Given the description of an element on the screen output the (x, y) to click on. 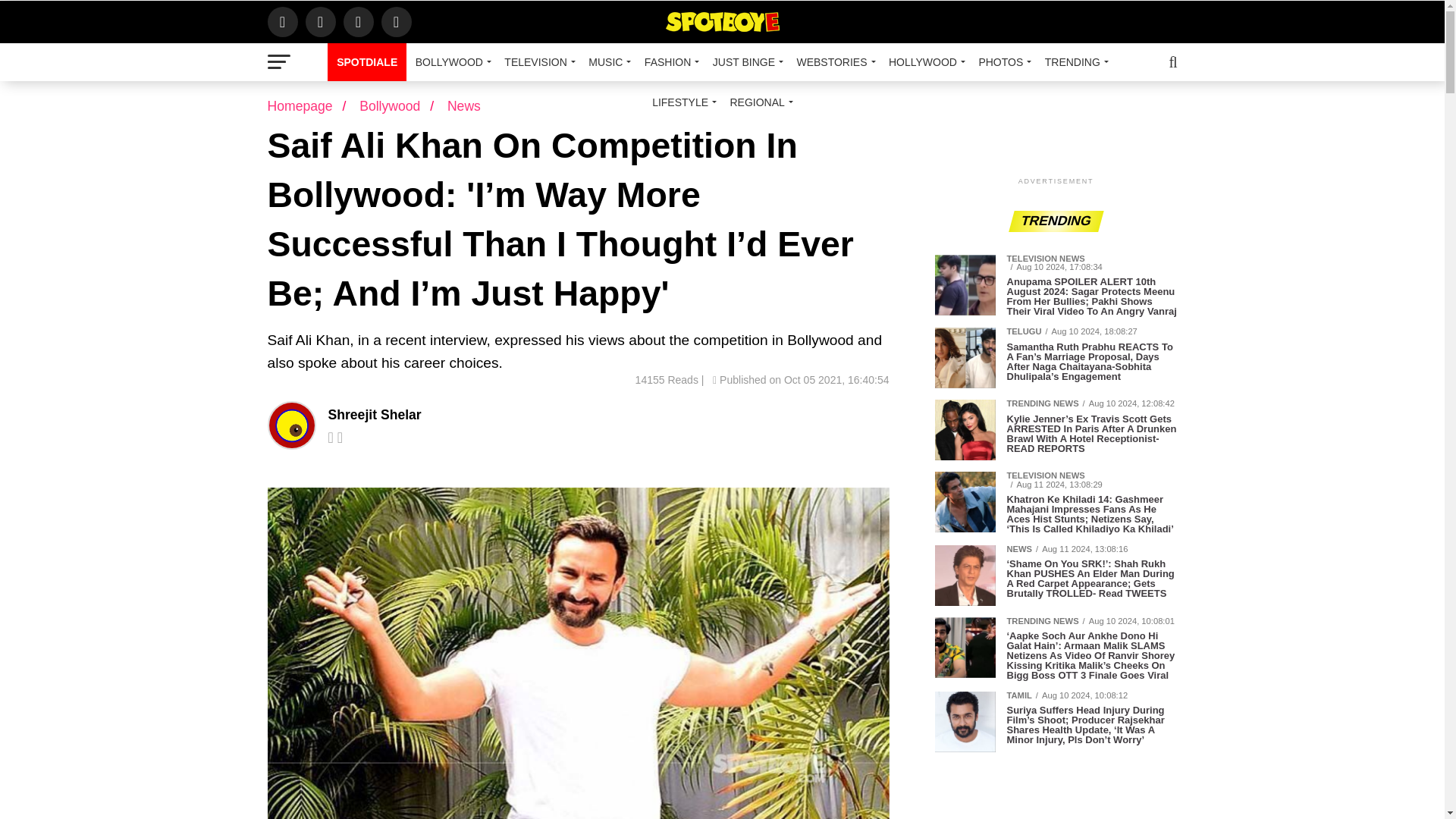
FASHION (668, 62)
JUST BINGE (745, 62)
MUSIC (606, 62)
SPOTDIALE (366, 62)
LIFESTYLE (681, 102)
TRENDING (1074, 62)
PHOTOS (1002, 62)
TELEVISION (537, 62)
Posts by  Shreejit Shelar  (373, 414)
REGIONAL (758, 102)
